Given the description of an element on the screen output the (x, y) to click on. 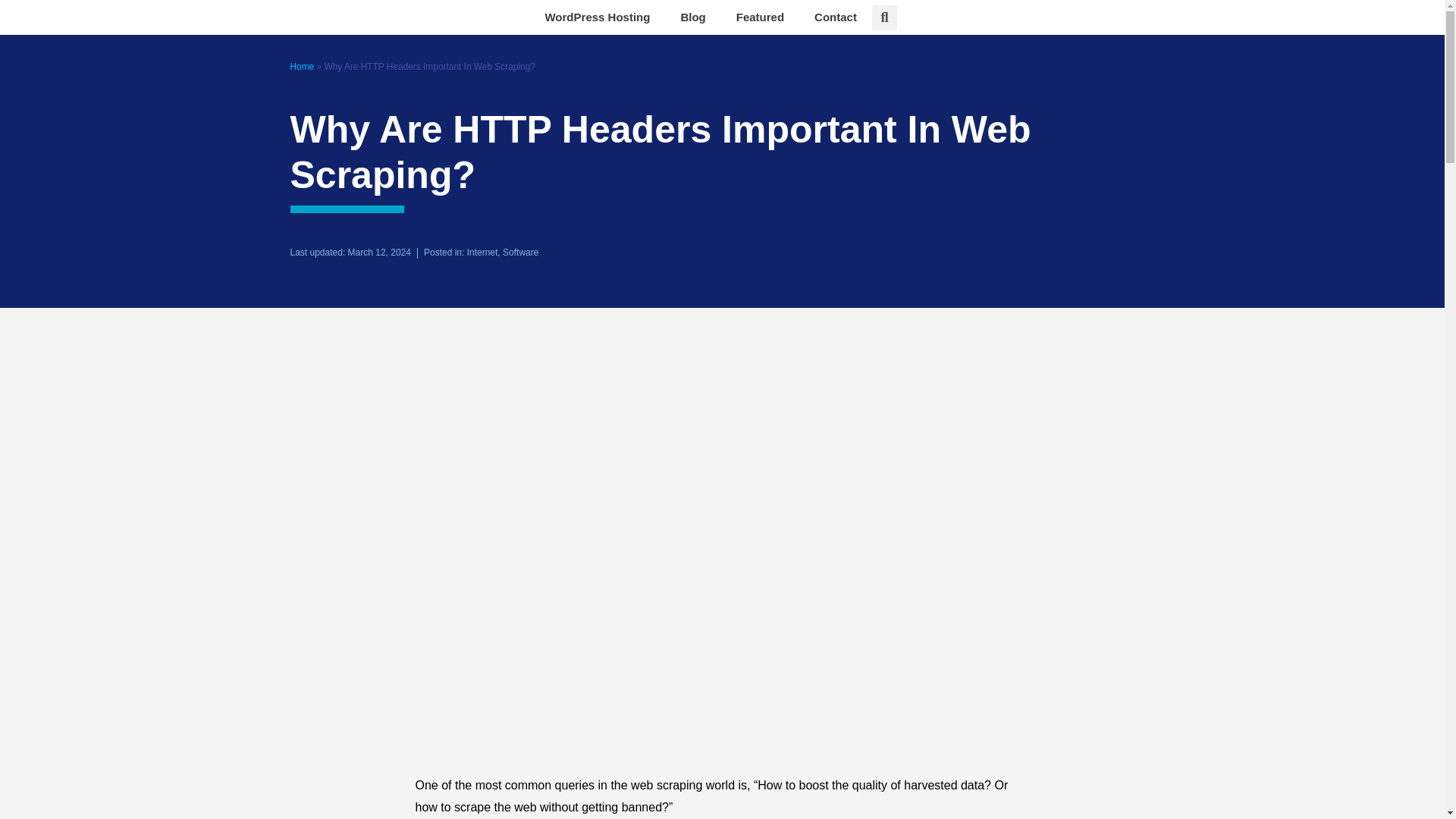
Software (520, 252)
best WordPress hosting (597, 17)
WordPress Hosting (597, 17)
Featured (759, 17)
Blog (692, 17)
Home (301, 66)
Contact (835, 17)
Internet (482, 252)
